Given the description of an element on the screen output the (x, y) to click on. 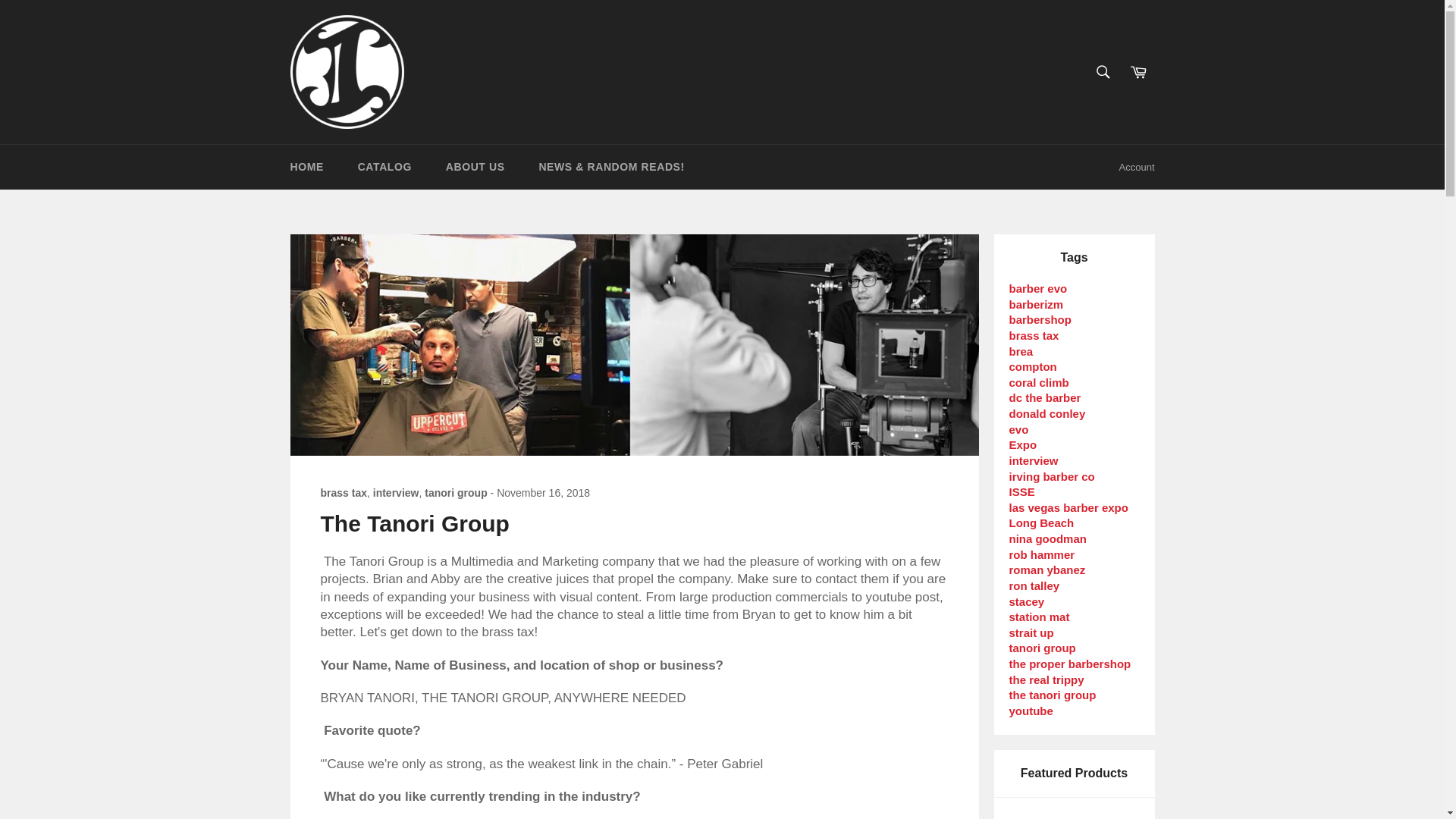
CATALOG (384, 166)
Show articles tagged evo (1018, 429)
Show articles tagged brea (1020, 350)
coral climb (1038, 382)
Cart (1138, 71)
Show articles tagged barberizm (1035, 304)
Account (1136, 167)
compton (1033, 366)
barber evo (1038, 287)
Show articles tagged compton (1033, 366)
Show articles tagged Long Beach (1041, 522)
barberizm (1035, 304)
Show articles tagged ISSE (1021, 491)
Show articles tagged irving barber co (1051, 476)
Show articles tagged dc the barber (1044, 397)
